Given the description of an element on the screen output the (x, y) to click on. 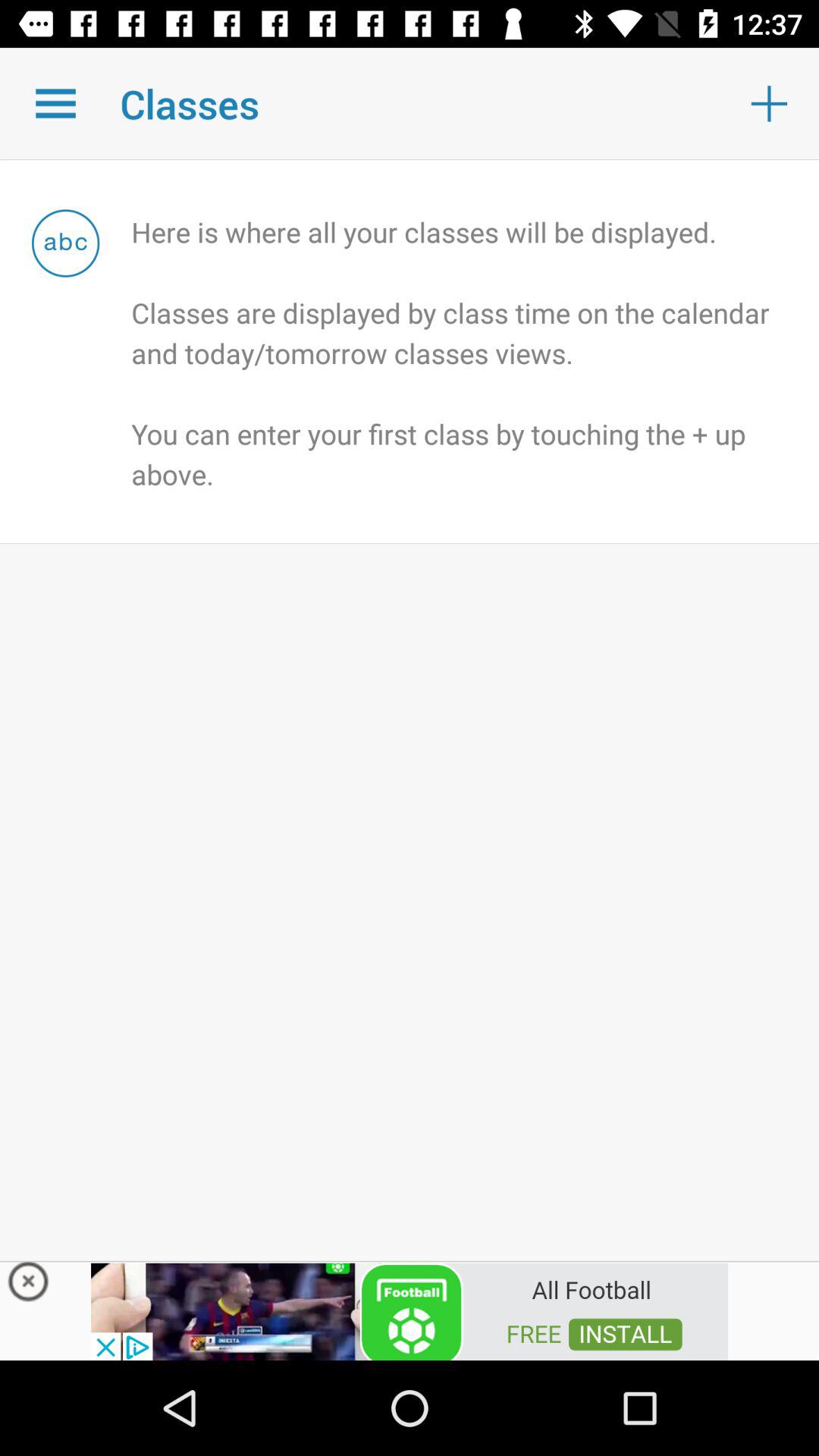
advertisement (409, 1310)
